Given the description of an element on the screen output the (x, y) to click on. 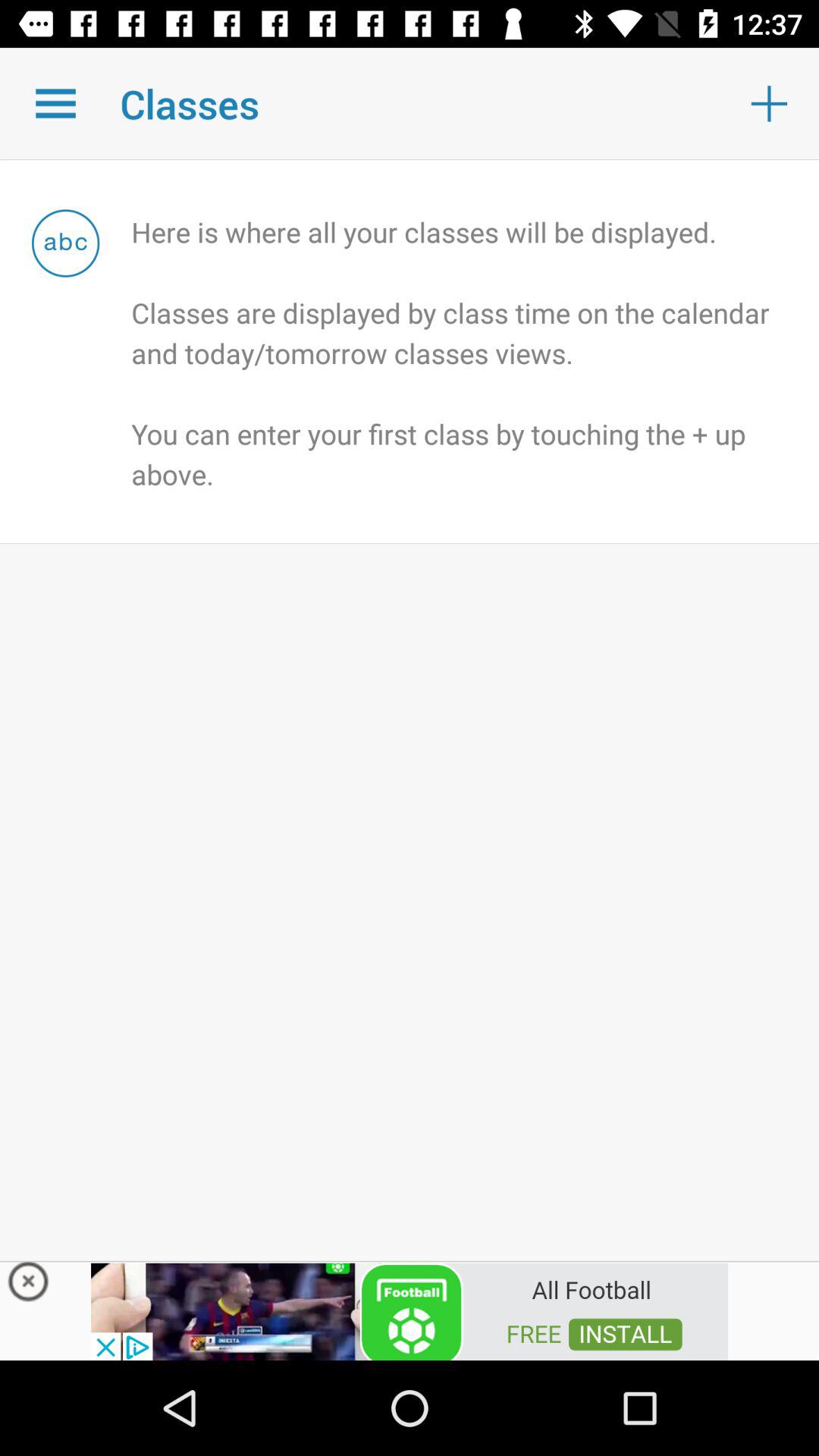
advertisement (409, 1310)
